Given the description of an element on the screen output the (x, y) to click on. 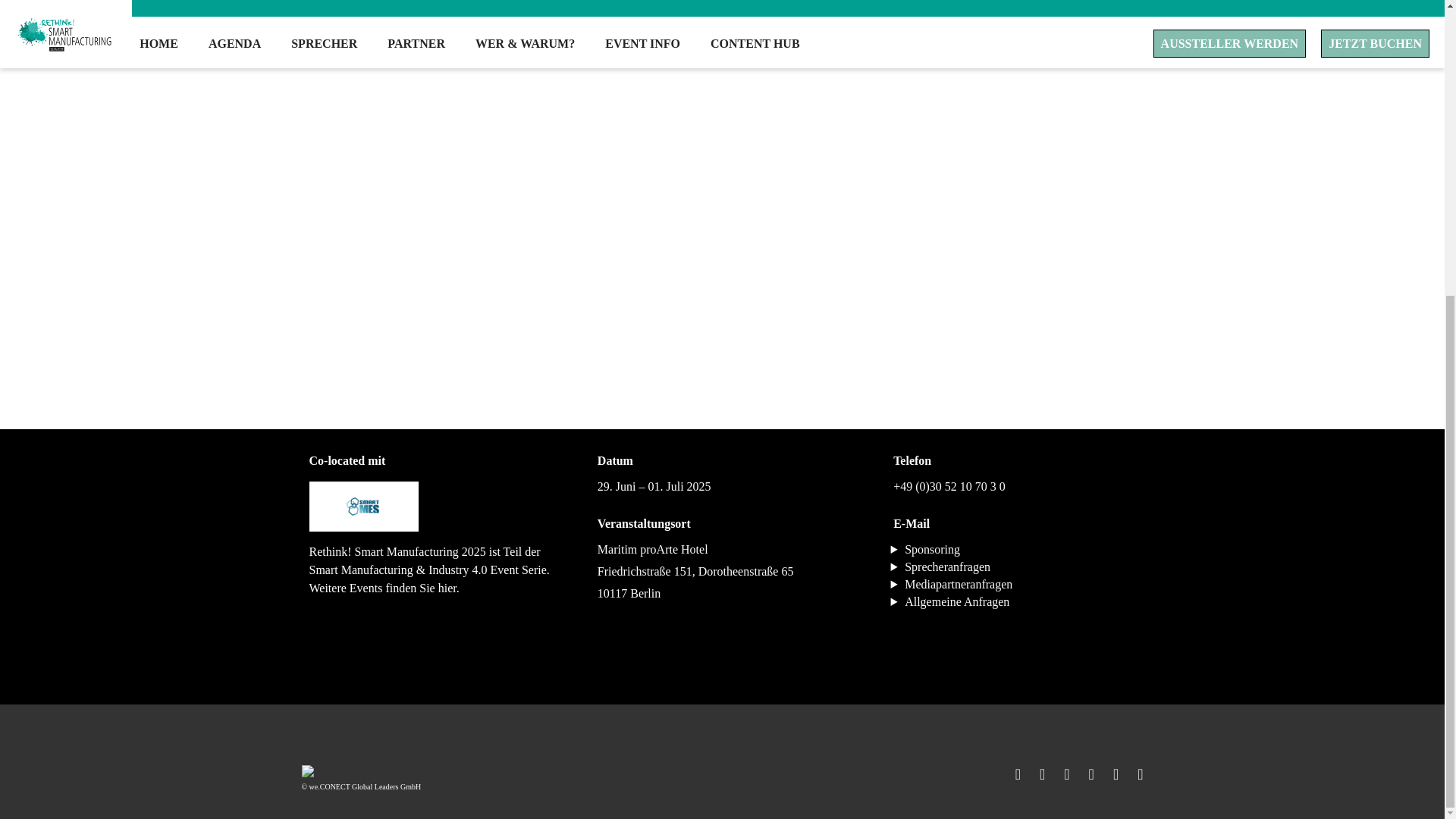
Smart MES 2025 (364, 506)
Watch us on Youtube (1132, 773)
Smart MES 2025 (364, 512)
Join us on Twitter (1035, 773)
Like us on Facebook (1010, 773)
we.CONECT Global Leaders GmbH (307, 773)
Join us on Linked In (1084, 773)
Follow us on Instagram (1058, 773)
Join us on Xing (1107, 773)
we.CONECT Global Leaders GmbH (361, 786)
